Given the description of an element on the screen output the (x, y) to click on. 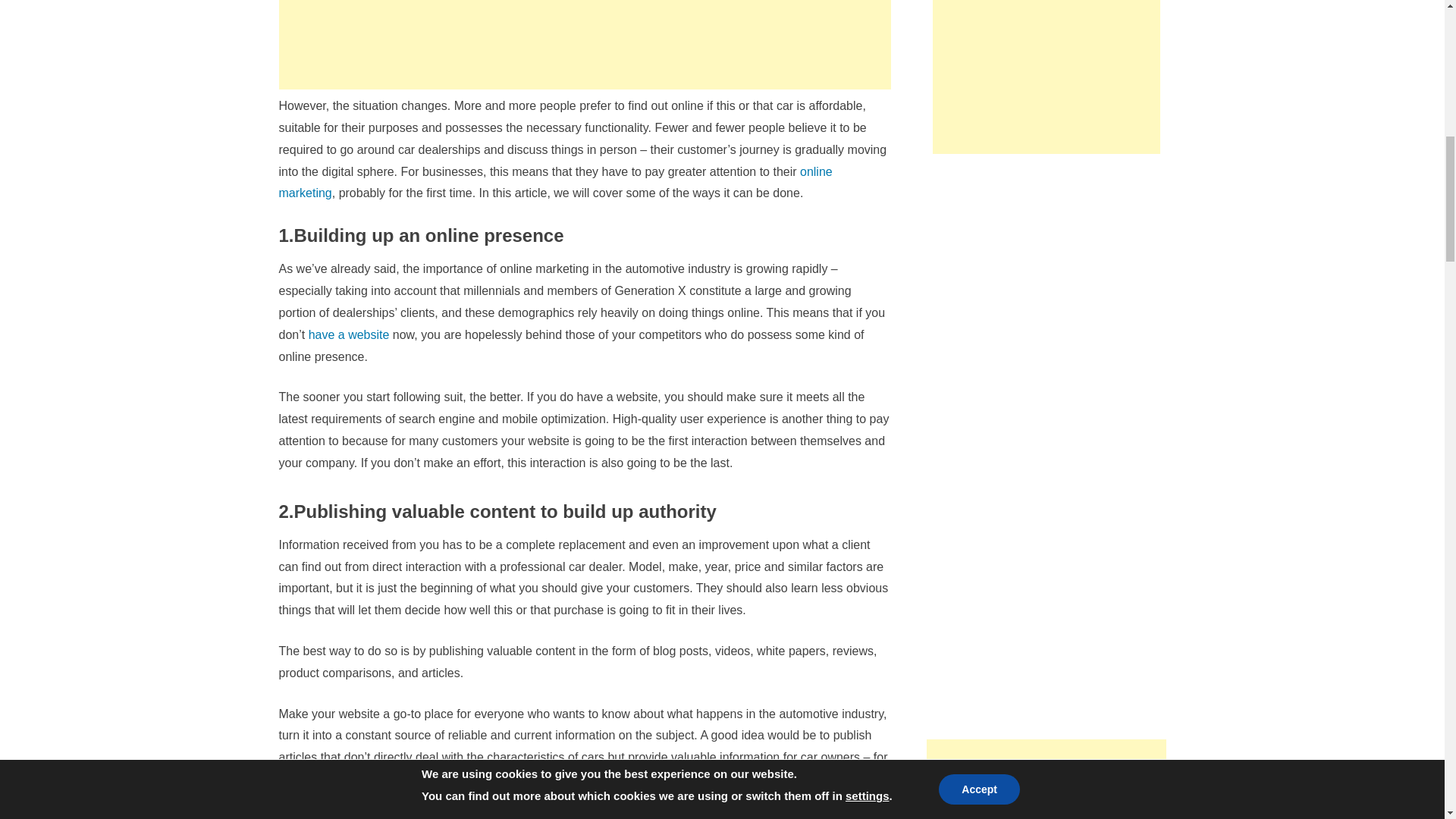
replace a (394, 779)
have a website (349, 334)
Advertisement (585, 44)
online marketing (555, 182)
key fob battery (462, 779)
